Given the description of an element on the screen output the (x, y) to click on. 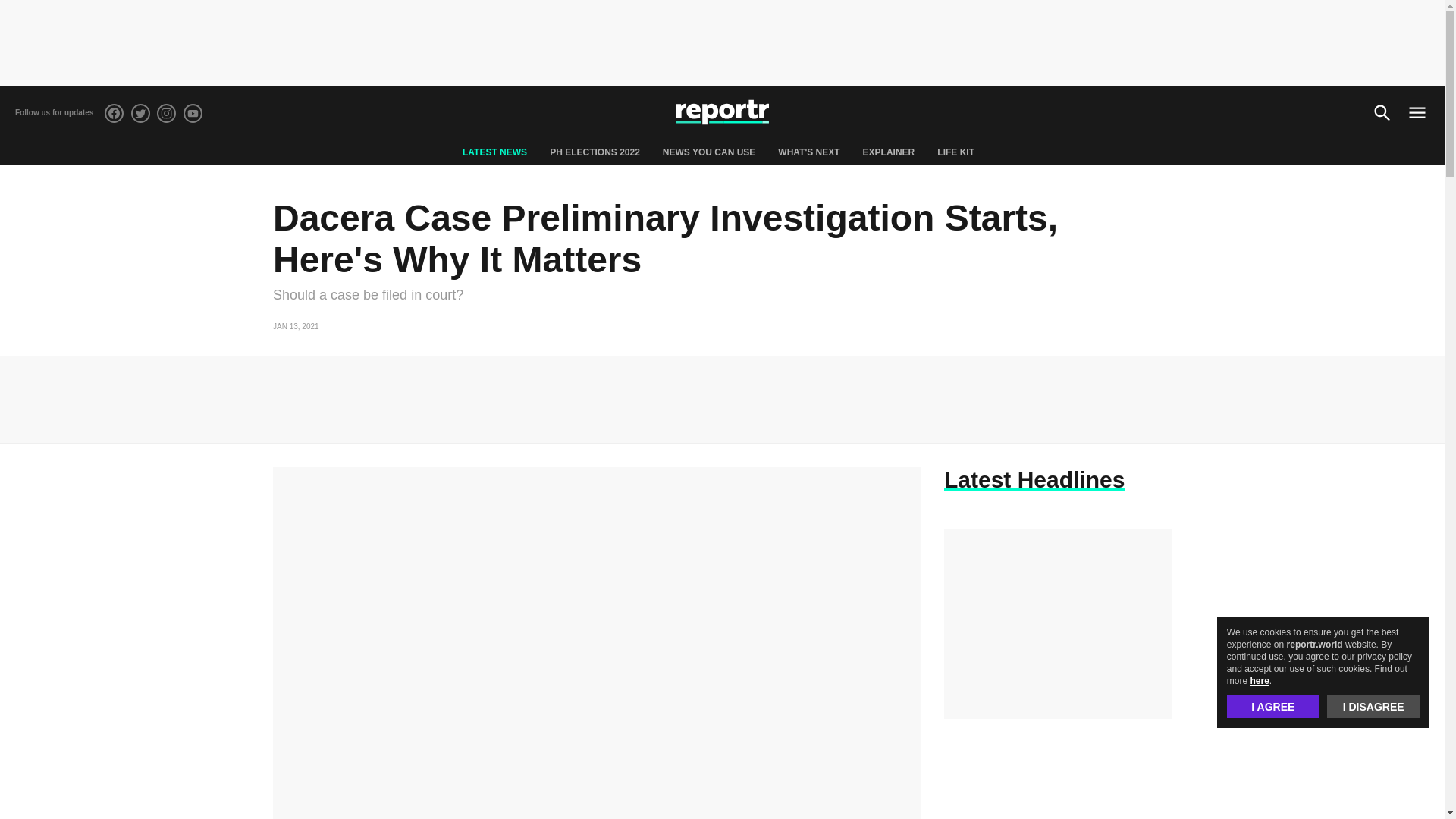
Follow us on Instagram (166, 112)
Explainer (889, 152)
LIFE KIT (955, 152)
What's Next (808, 152)
Follow us on Facebook (113, 112)
Reportr (722, 112)
News you can use (708, 152)
NEWS YOU CAN USE (708, 152)
Subscribe on Youtube (192, 112)
Latest News (495, 152)
WHAT'S NEXT (808, 152)
PH ELECTIONS 2022 (595, 152)
Follow us on Twitter (140, 112)
EXPLAINER (889, 152)
LATEST NEWS (495, 152)
